Given the description of an element on the screen output the (x, y) to click on. 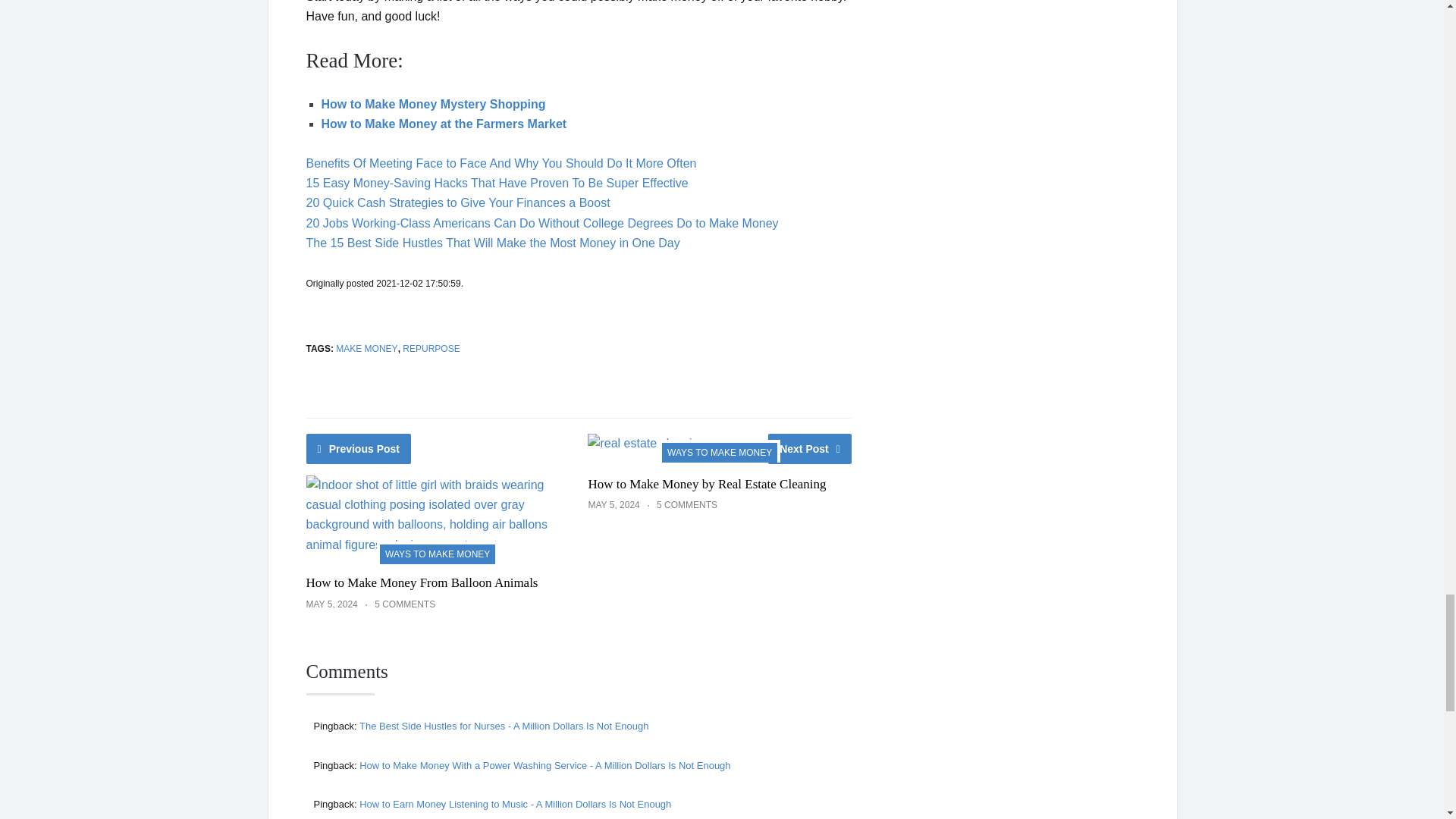
How to Make Money From Balloon Animals (421, 582)
Next Post (809, 449)
WAYS TO MAKE MONEY (719, 450)
How to Make Money by Real Estate Cleaning (706, 483)
How to Make Money at the Farmers Market  (445, 123)
WAYS TO MAKE MONEY (437, 552)
Previous Post (358, 449)
How to Make Money Mystery Shopping (433, 103)
20 Quick Cash Strategies to Give Your Finances a Boost (457, 202)
MAKE MONEY (366, 348)
